Given the description of an element on the screen output the (x, y) to click on. 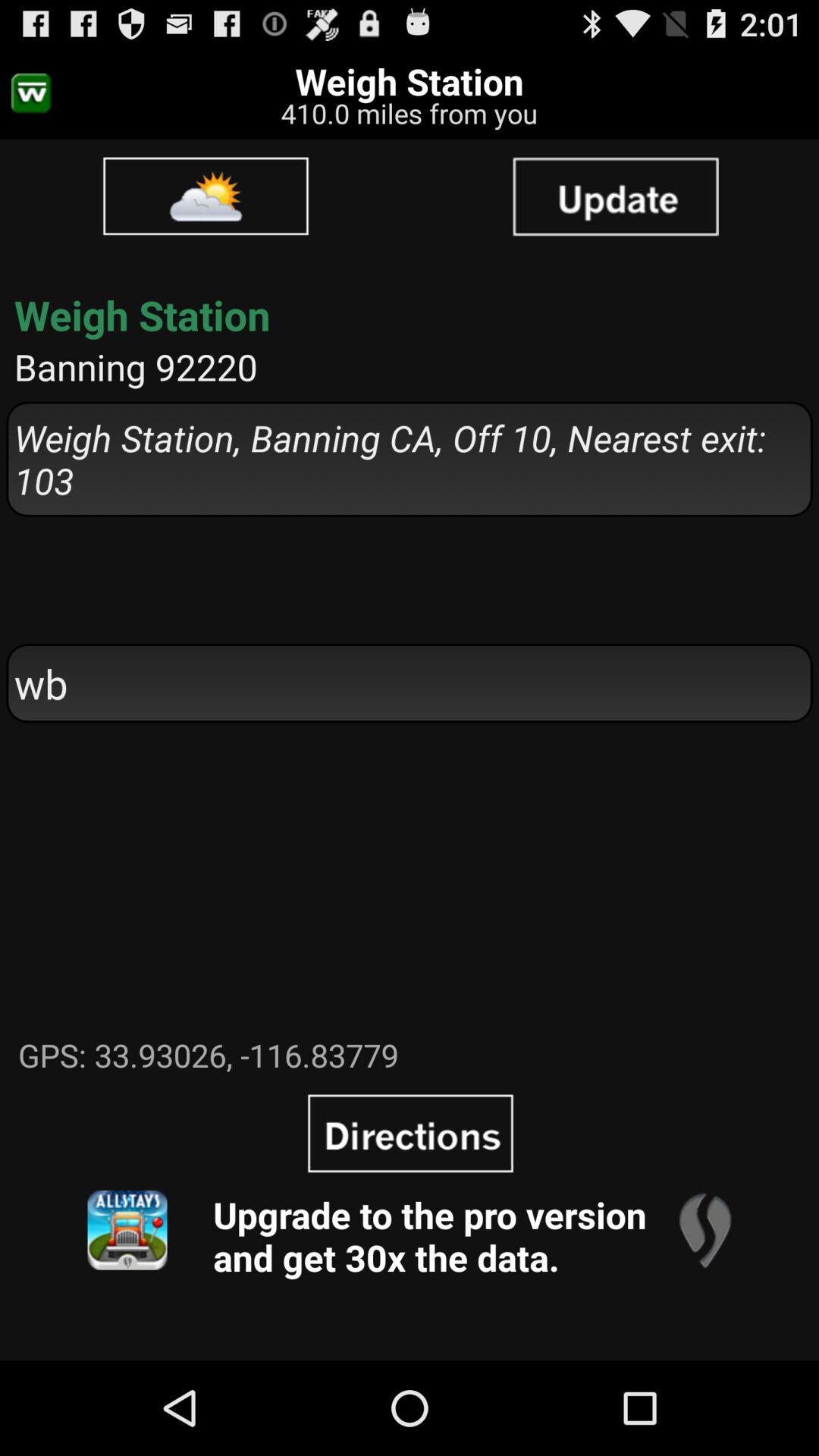
launch item at the top right corner (614, 196)
